Given the description of an element on the screen output the (x, y) to click on. 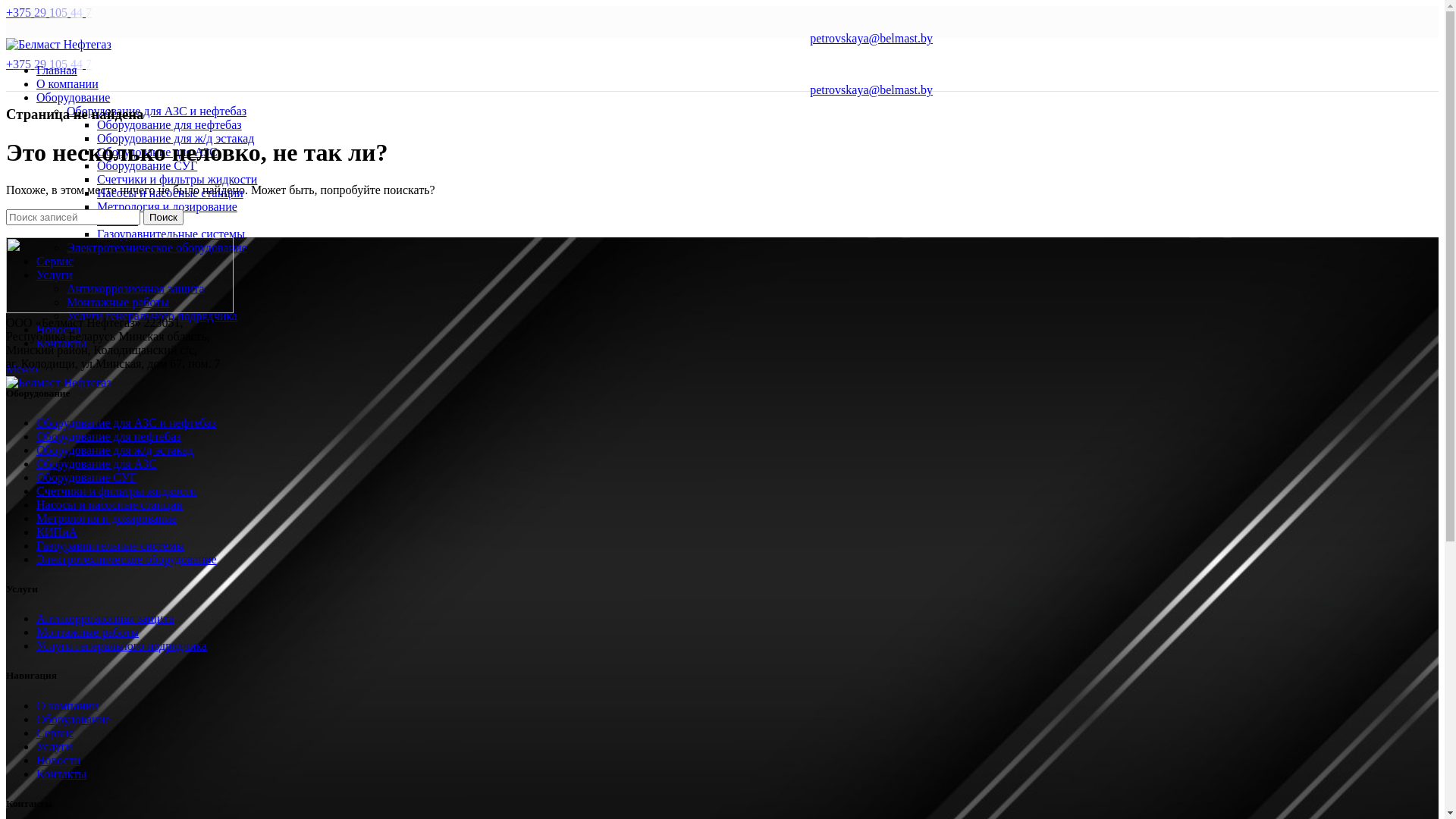
+375 29 105 44 7 Element type: text (51, 12)
petrovskaya@belmast.by Element type: text (870, 89)
+375 29 105 44 7 Element type: text (51, 63)
petrovskaya@belmast.by Element type: text (870, 37)
